Given the description of an element on the screen output the (x, y) to click on. 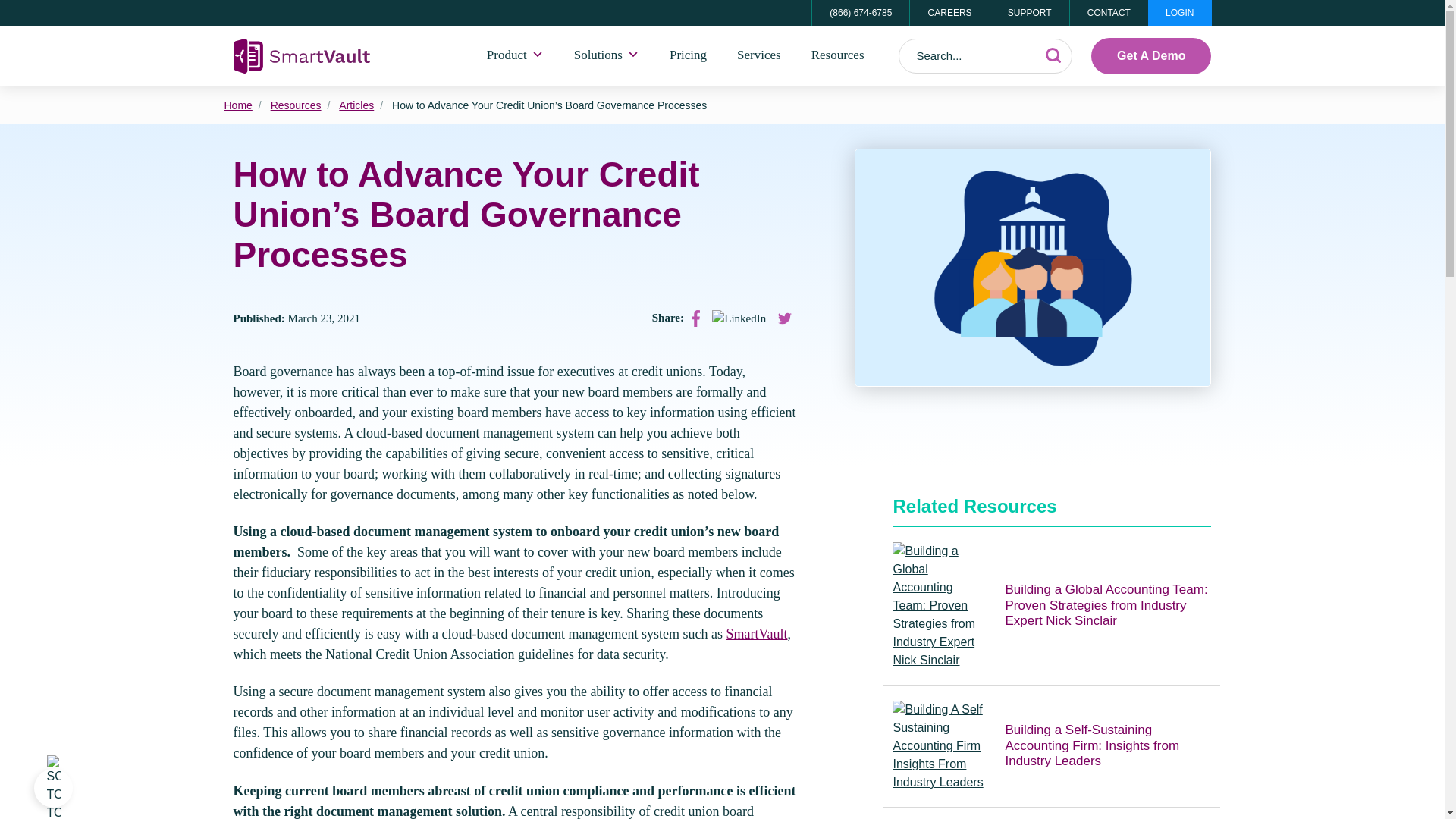
SUPPORT (1029, 12)
Contact us (1108, 12)
LOGIN (1179, 12)
Join our team! (948, 12)
Product (515, 55)
CONTACT (1108, 12)
Check out our Support resources (1029, 12)
Search for: (985, 55)
Solutions (606, 55)
CAREERS (948, 12)
Login to My.SmartVault.com (1179, 12)
